Given the description of an element on the screen output the (x, y) to click on. 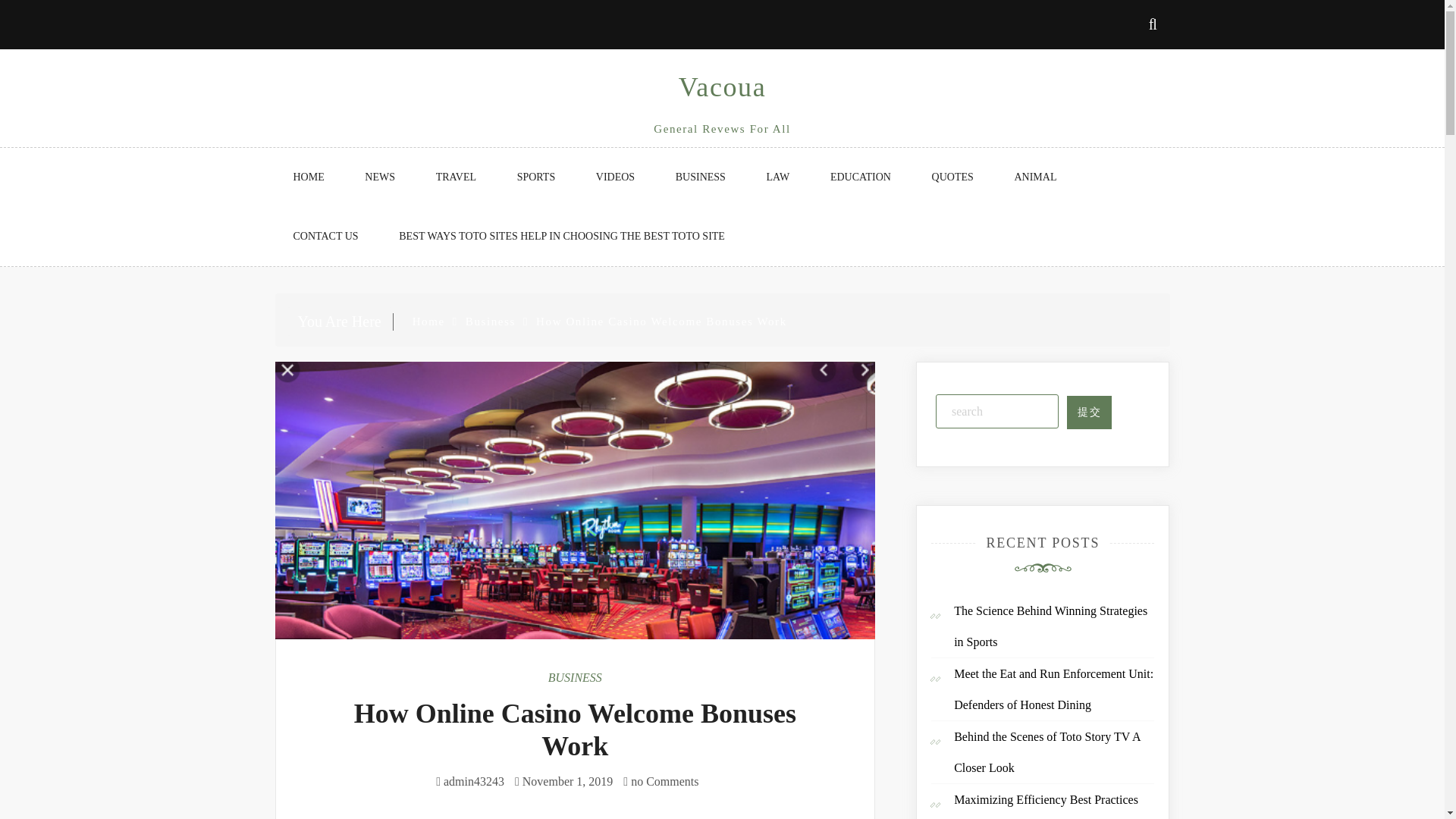
The Science Behind Winning Strategies in Sports (1050, 626)
BEST WAYS TOTO SITES HELP IN CHOOSING THE BEST TOTO SITE (561, 236)
Posts by admin43243 (473, 780)
TRAVEL (456, 177)
admin43243 (473, 780)
November 1, 2019 (567, 780)
Business (490, 321)
HOME (308, 177)
QUOTES (952, 177)
